Given the description of an element on the screen output the (x, y) to click on. 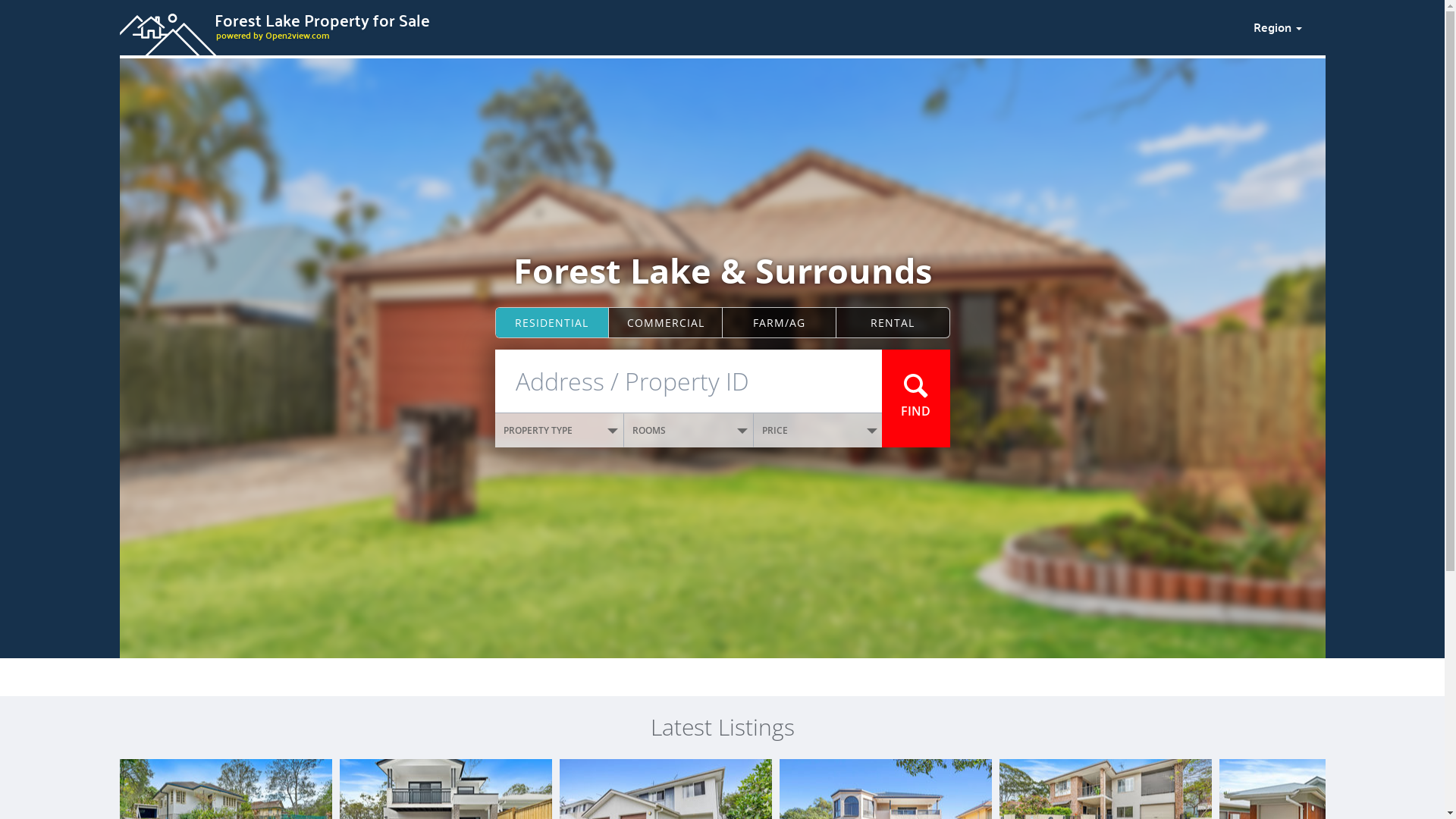
PROPERTY TYPE Element type: text (559, 430)
PRICE Element type: text (817, 430)
ROOMS Element type: text (688, 430)
Forest Lake Property for Sale
powered by Open2view.com Element type: text (676, 25)
